Given the description of an element on the screen output the (x, y) to click on. 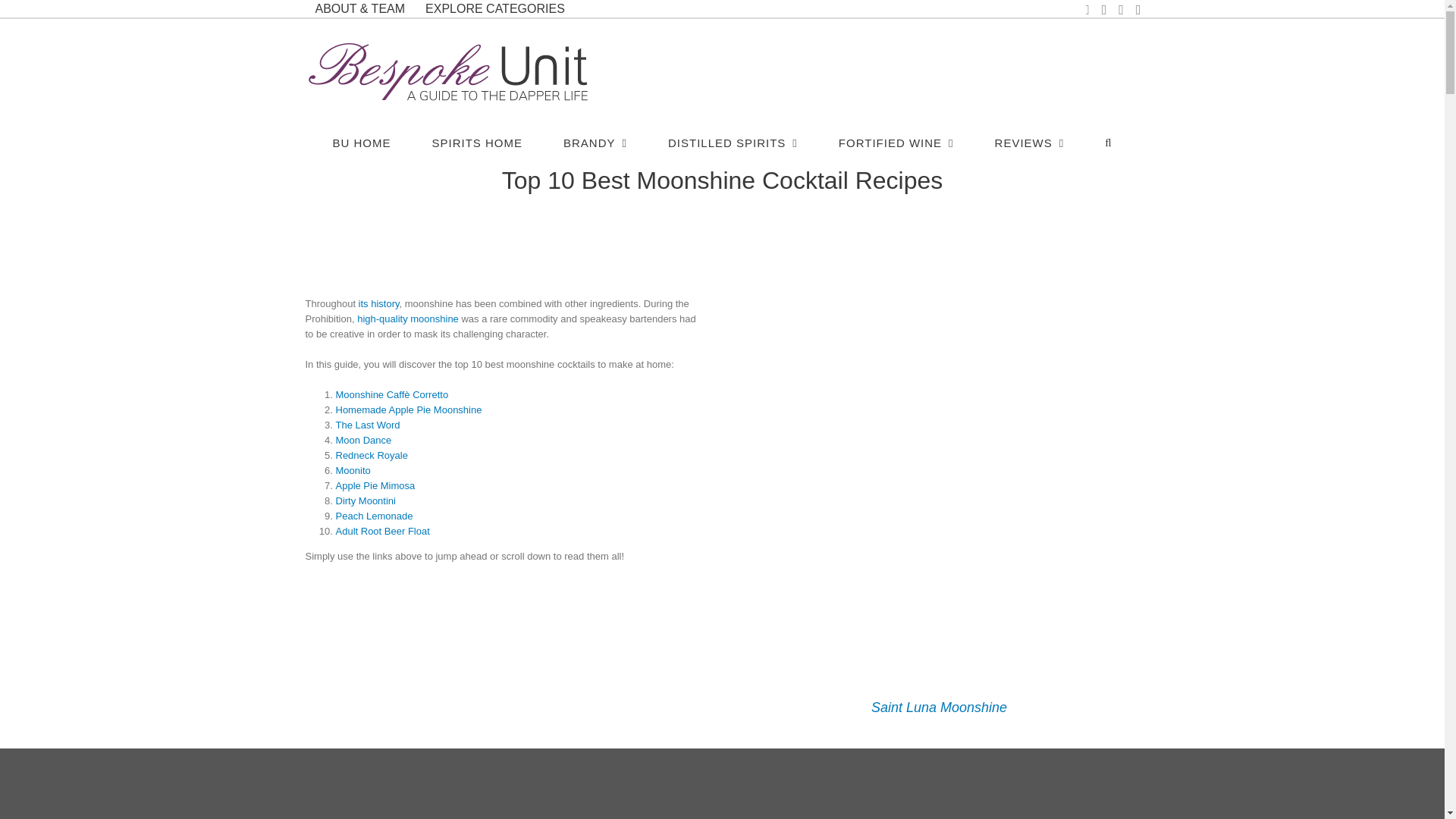
EXPLORE CATEGORIES (494, 8)
BU HOME (360, 142)
FORTIFIED WINE (895, 142)
BRANDY (595, 142)
SPIRITS HOME (476, 142)
DISTILLED SPIRITS (732, 142)
